Given the description of an element on the screen output the (x, y) to click on. 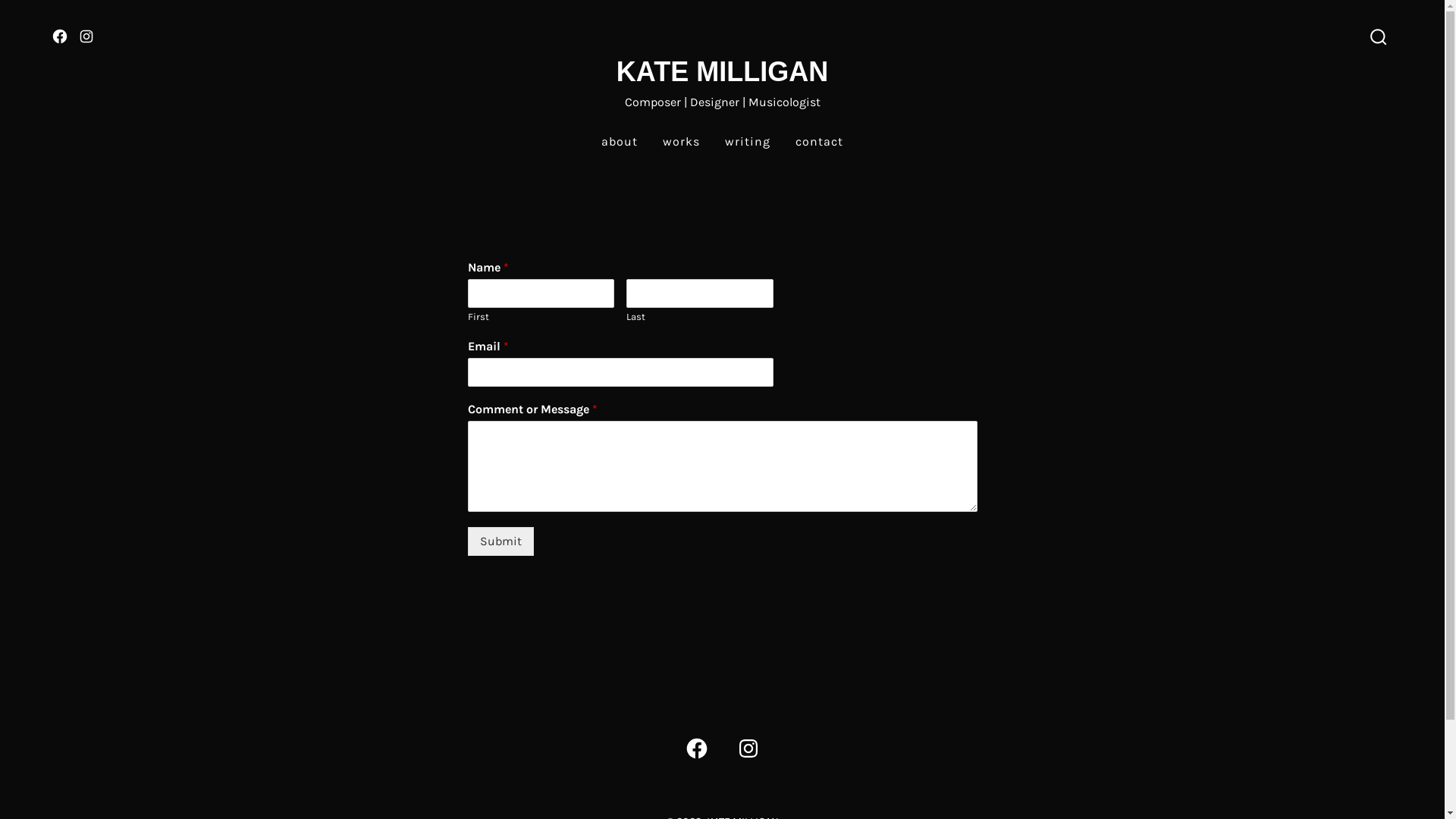
Open Instagram in a new tab Element type: text (747, 748)
KATE MILLIGAN Element type: text (722, 72)
contact Element type: text (819, 142)
works Element type: text (680, 142)
search toggle Element type: text (1378, 37)
about Element type: text (619, 142)
writing Element type: text (747, 142)
Open Facebook in a new tab Element type: text (695, 748)
Open Facebook in a new tab Element type: text (59, 36)
Submit Element type: text (500, 541)
Open Instagram in a new tab Element type: text (86, 36)
